Given the description of an element on the screen output the (x, y) to click on. 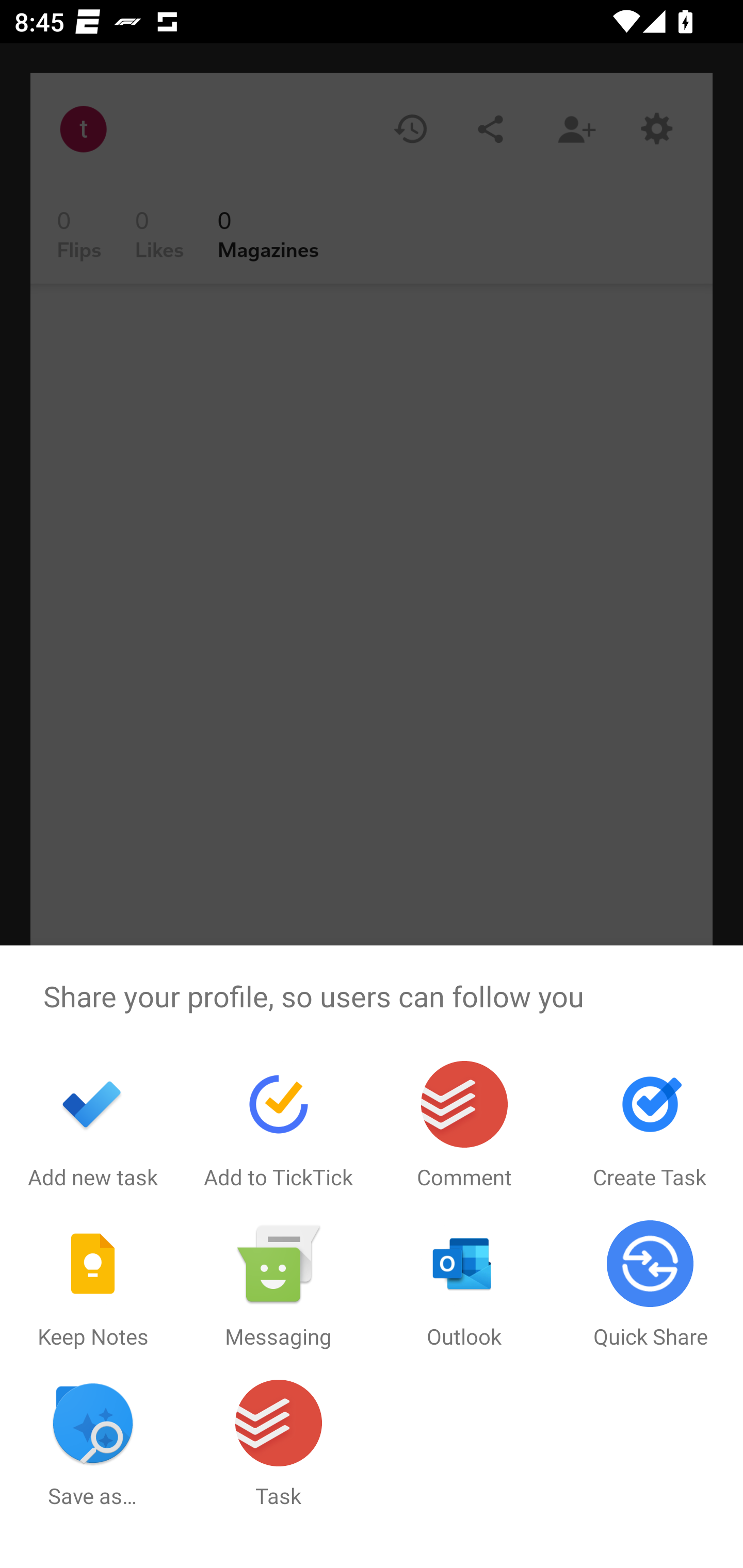
Add new task (92, 1125)
Add to TickTick (278, 1125)
Comment (464, 1125)
Create Task (650, 1125)
Keep Notes (92, 1285)
Messaging (278, 1285)
Outlook (464, 1285)
Quick Share (650, 1285)
Save as… (92, 1444)
Task (278, 1444)
